Given the description of an element on the screen output the (x, y) to click on. 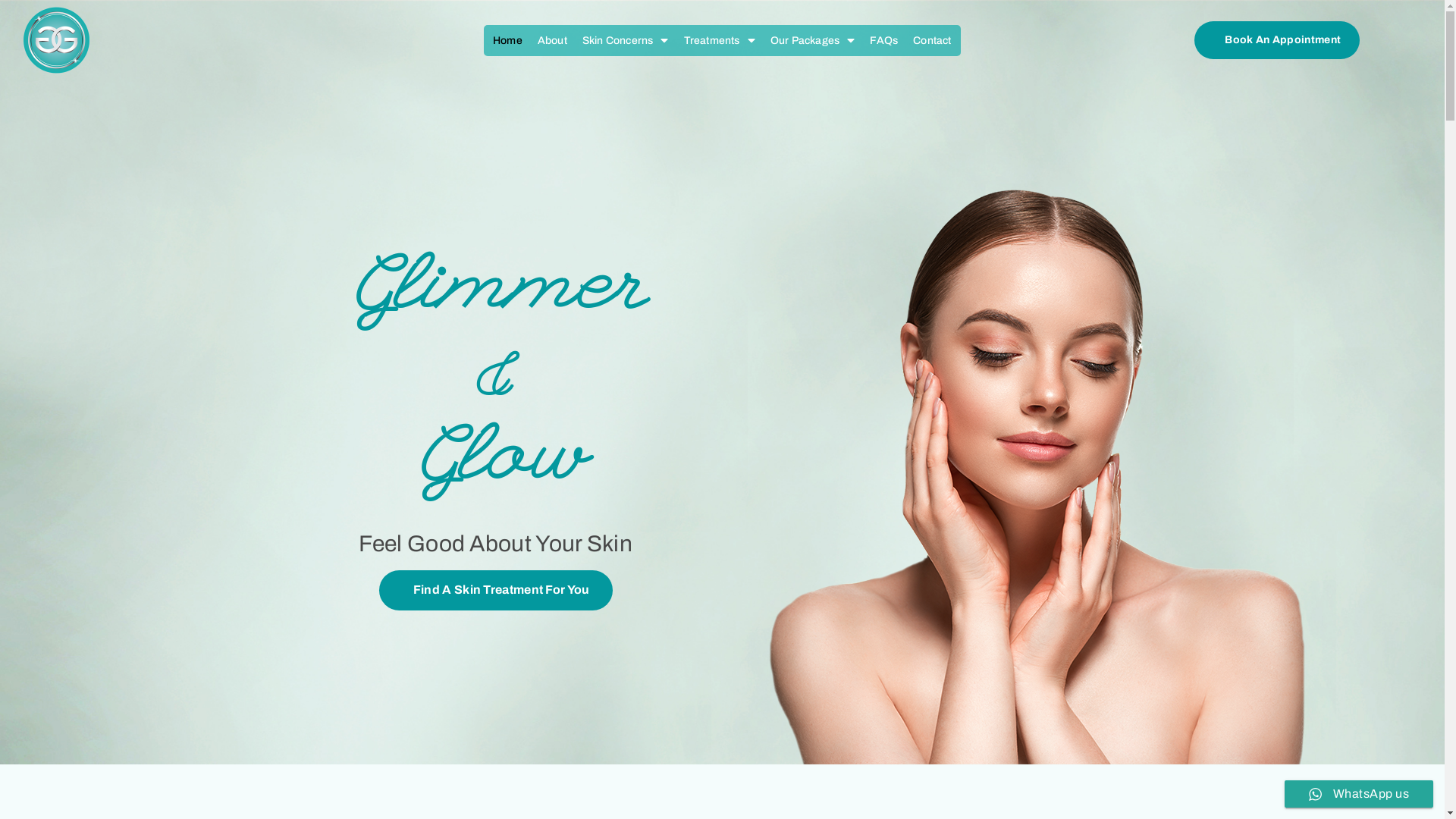
Find A Skin Treatment For You Element type: text (495, 589)
Contact Element type: text (931, 39)
Book An Appointment Element type: text (1276, 40)
Treatments Element type: text (719, 39)
Our Packages Element type: text (812, 39)
FAQs Element type: text (883, 39)
Home Element type: text (507, 39)
Skin Concerns Element type: text (625, 39)
About Element type: text (552, 39)
